Given the description of an element on the screen output the (x, y) to click on. 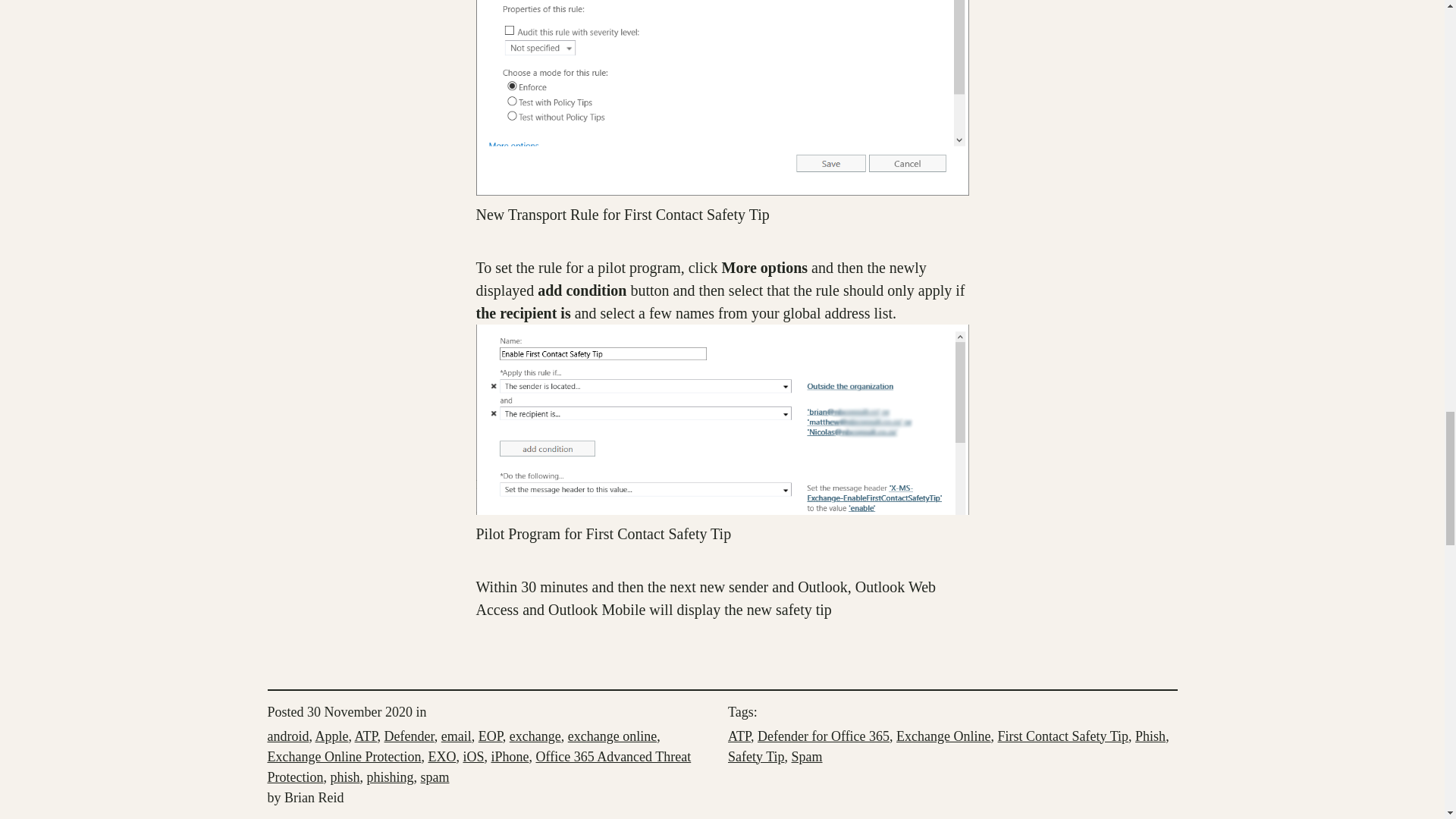
Spam (807, 756)
exchange online (611, 735)
ATP (366, 735)
Safety Tip (756, 756)
phishing (389, 776)
First Contact Safety Tip (1063, 735)
Apple (332, 735)
Office 365 Advanced Threat Protection (478, 766)
EXO (441, 756)
ATP (739, 735)
